Given the description of an element on the screen output the (x, y) to click on. 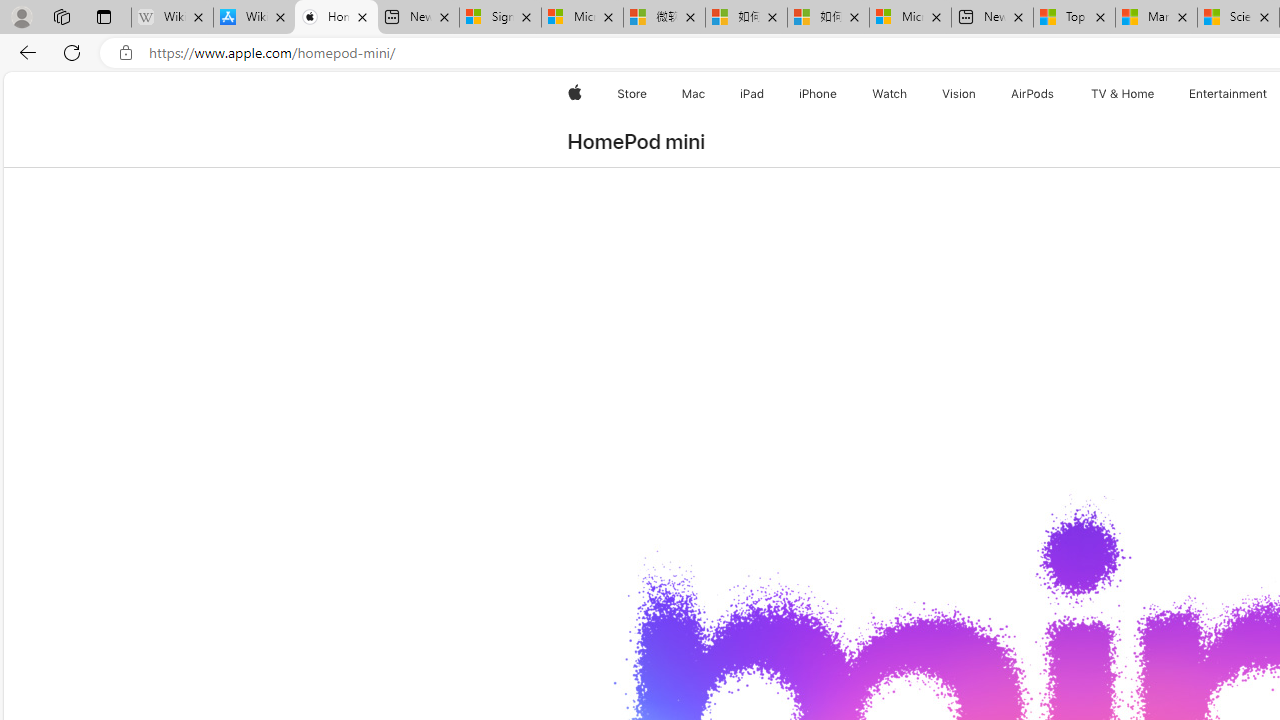
Mac (692, 93)
AirPods menu (1058, 93)
iPad (750, 93)
Watch menu (910, 93)
iPad (750, 93)
TV and Home (1122, 93)
AirPods (1032, 93)
iPhone (818, 93)
Store (631, 93)
